Given the description of an element on the screen output the (x, y) to click on. 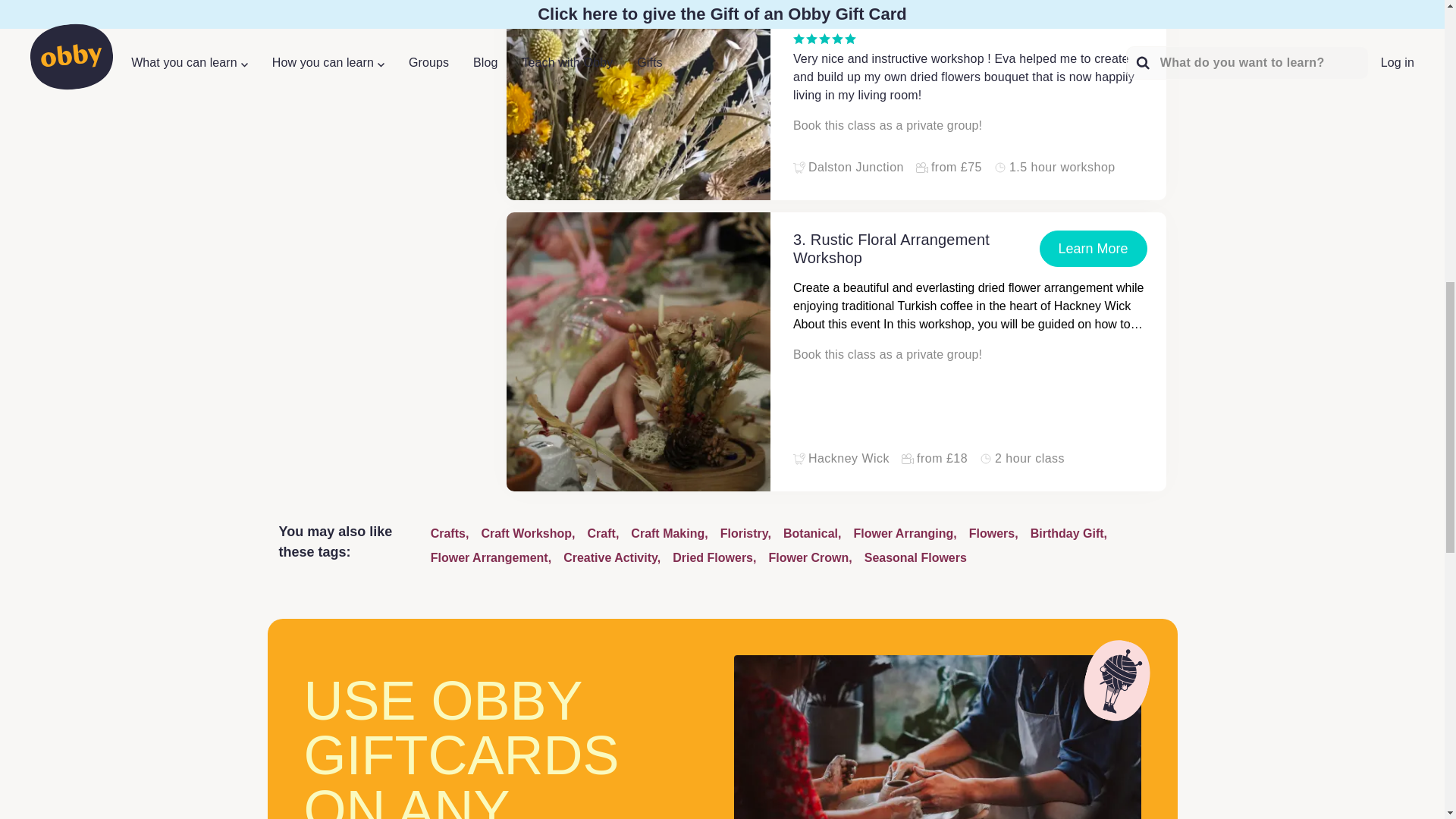
Apply (1383, 67)
Learn More (1093, 248)
Botanical (812, 533)
Craft Making (668, 533)
Floristry (745, 533)
Crafts (449, 533)
Craft (604, 533)
Craft Workshop (527, 533)
